Given the description of an element on the screen output the (x, y) to click on. 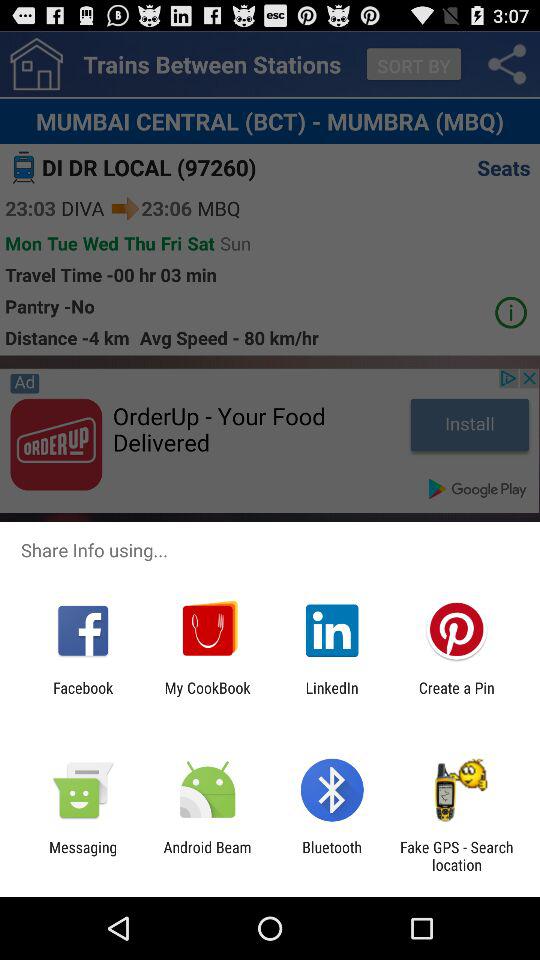
choose the app next to the bluetooth (456, 856)
